Given the description of an element on the screen output the (x, y) to click on. 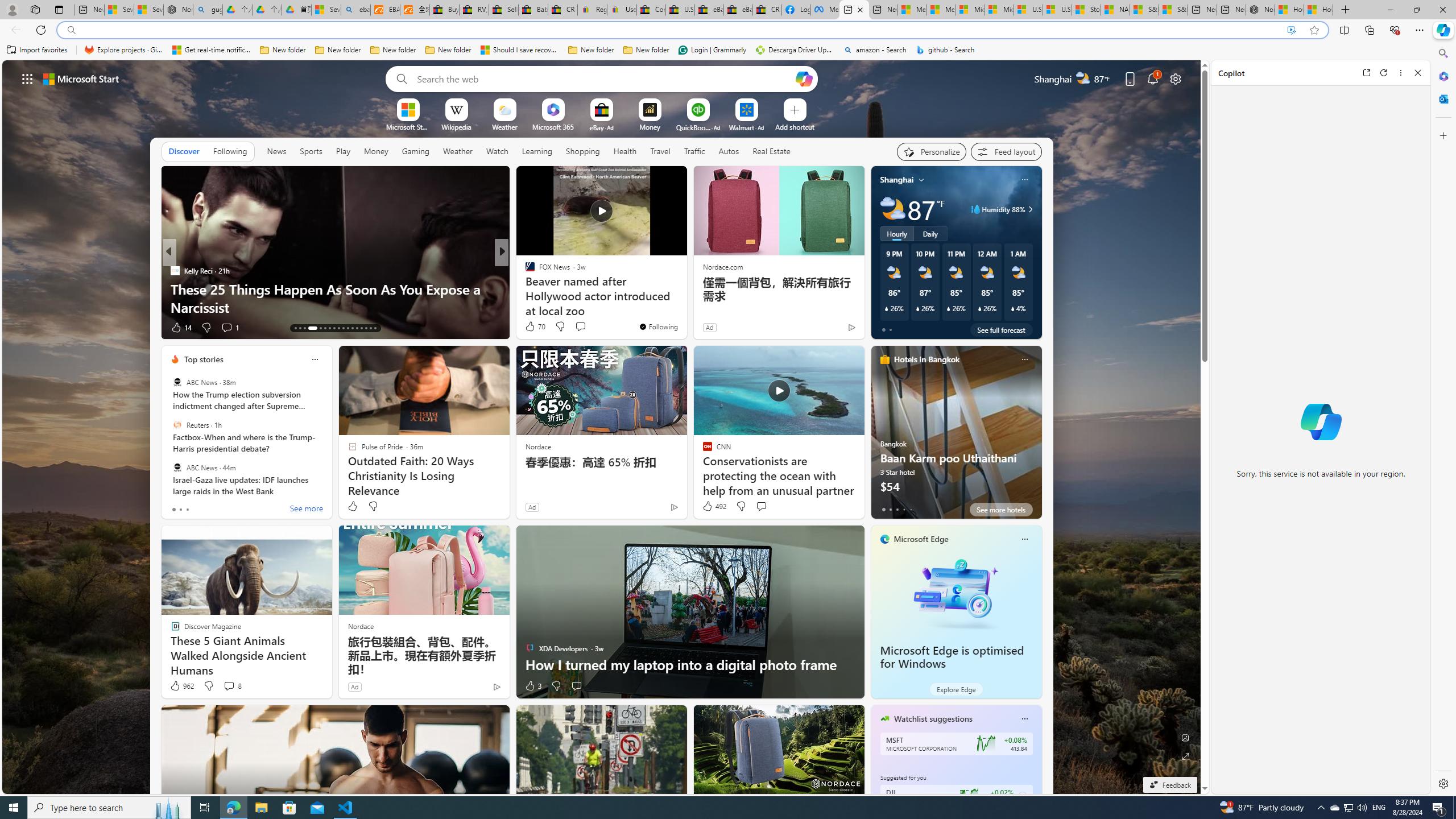
AutomationID: tab-13 (295, 328)
World Map Quiz: Can You Name These 20 Countries? (684, 307)
AutomationID: tab-24 (352, 328)
tab-2 (897, 509)
AutomationID: tab-15 (304, 328)
Register: Create a personal eBay account (591, 9)
